Given the description of an element on the screen output the (x, y) to click on. 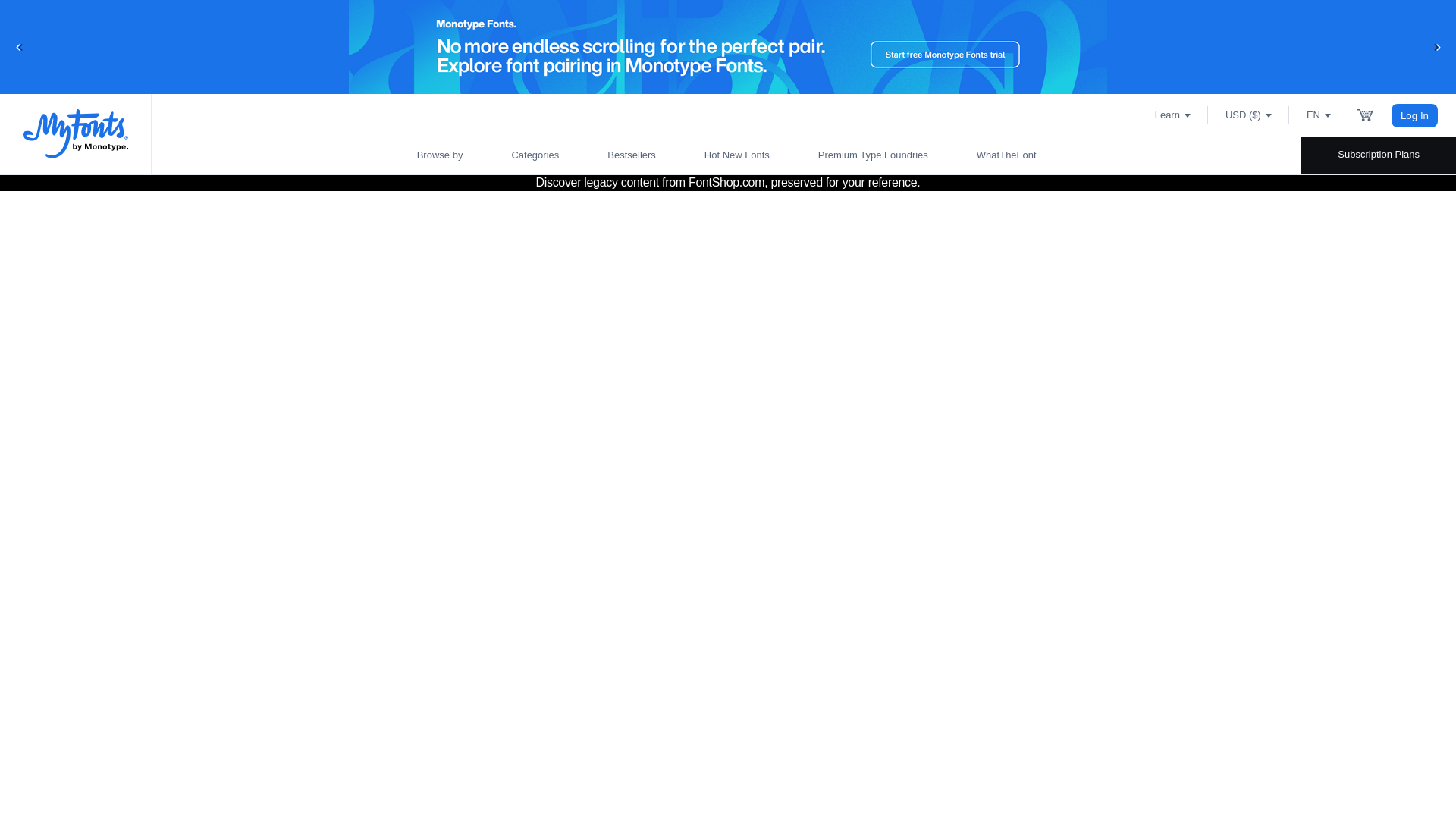
Log In (1414, 114)
Skip to content (72, 27)
MyFonts (75, 133)
